Given the description of an element on the screen output the (x, y) to click on. 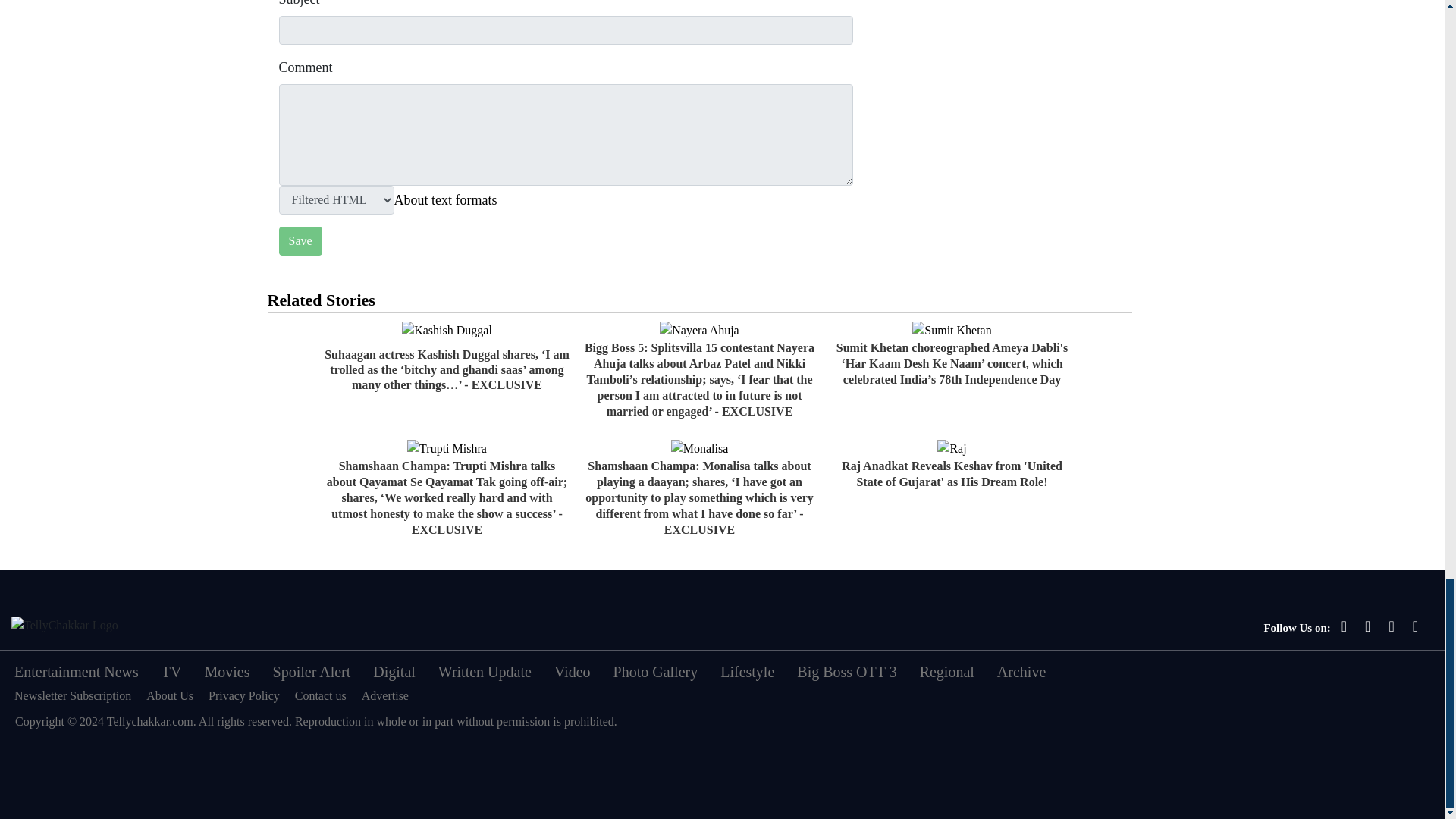
Sumit Khetan (951, 330)
Trupti Mishra (446, 448)
Nayera Ahuja (698, 330)
Monalisa (700, 448)
Kashish Duggal (446, 330)
Opens in new window (445, 199)
TellyChakkar Logo (64, 625)
Raj  (951, 448)
